Given the description of an element on the screen output the (x, y) to click on. 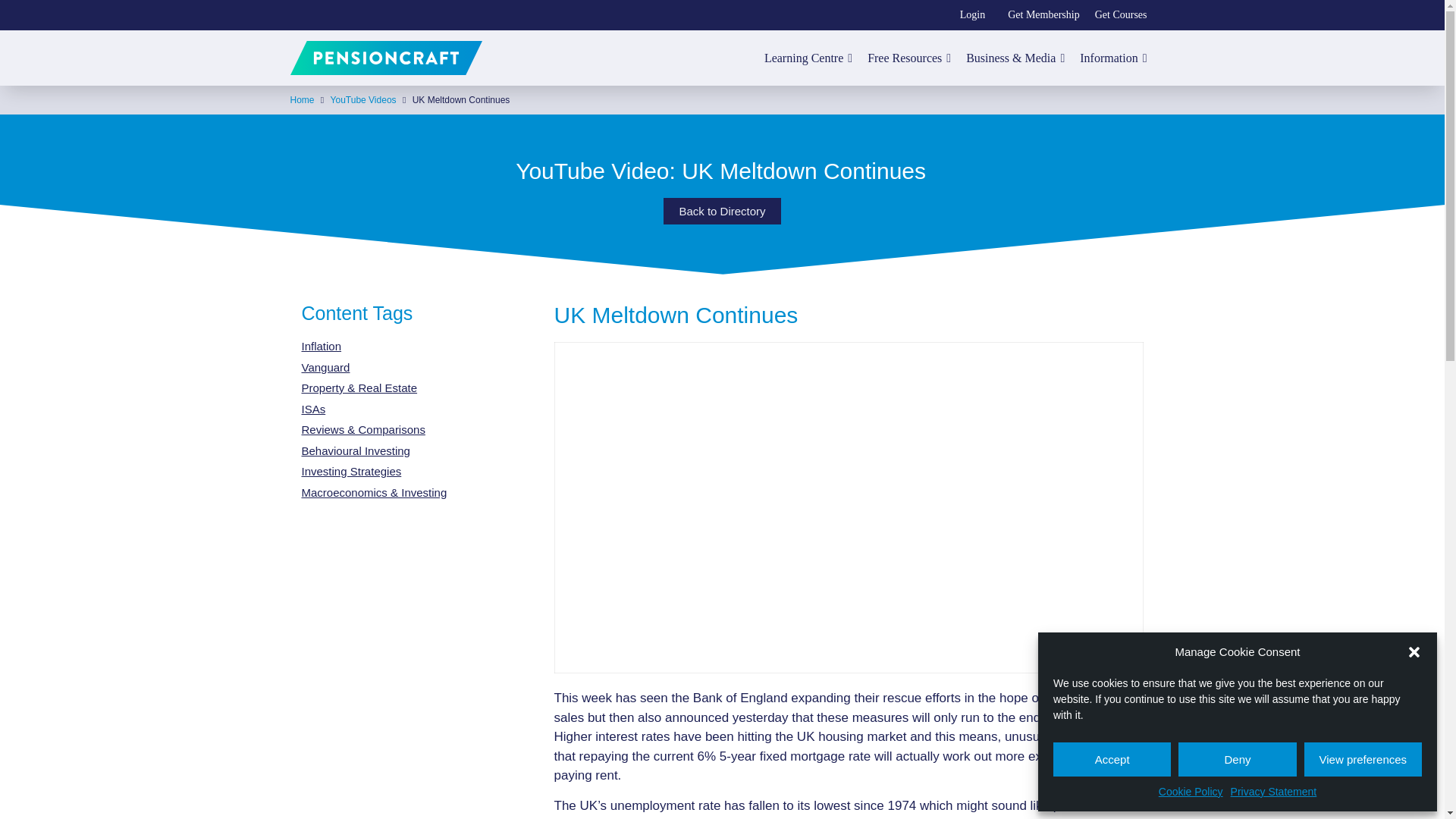
Get Courses (1120, 15)
View preferences (1363, 759)
Free Resources (909, 57)
Deny (1236, 759)
Login (972, 15)
Cookie Policy (1190, 791)
Get Membership (1043, 15)
Privacy Statement (1273, 791)
Learning Centre (808, 57)
Accept (1111, 759)
